Given the description of an element on the screen output the (x, y) to click on. 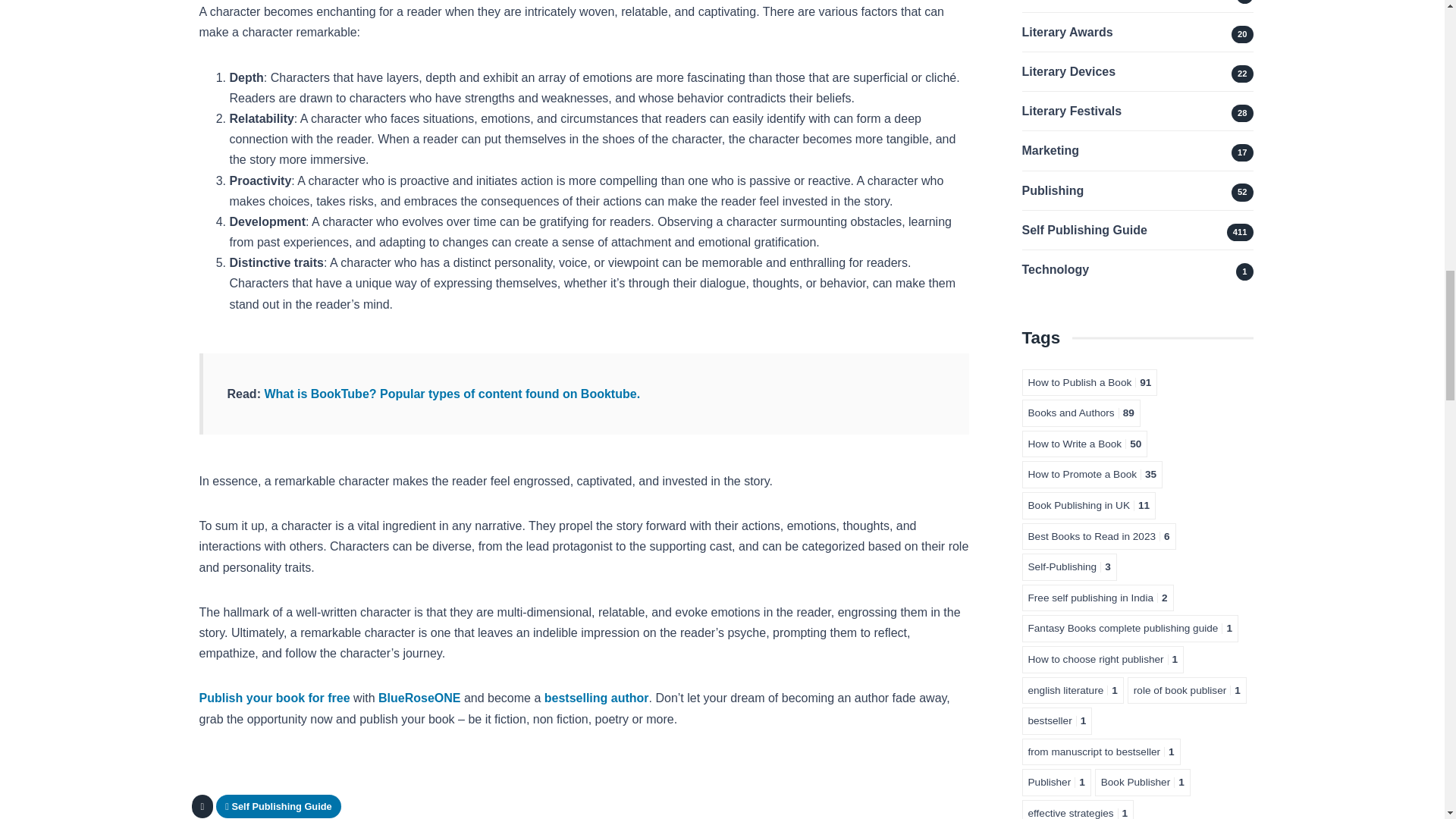
Publish your book for free (273, 697)
Self Publishing Guide (279, 805)
BlueRoseONE (419, 697)
bestselling author (596, 697)
